Given the description of an element on the screen output the (x, y) to click on. 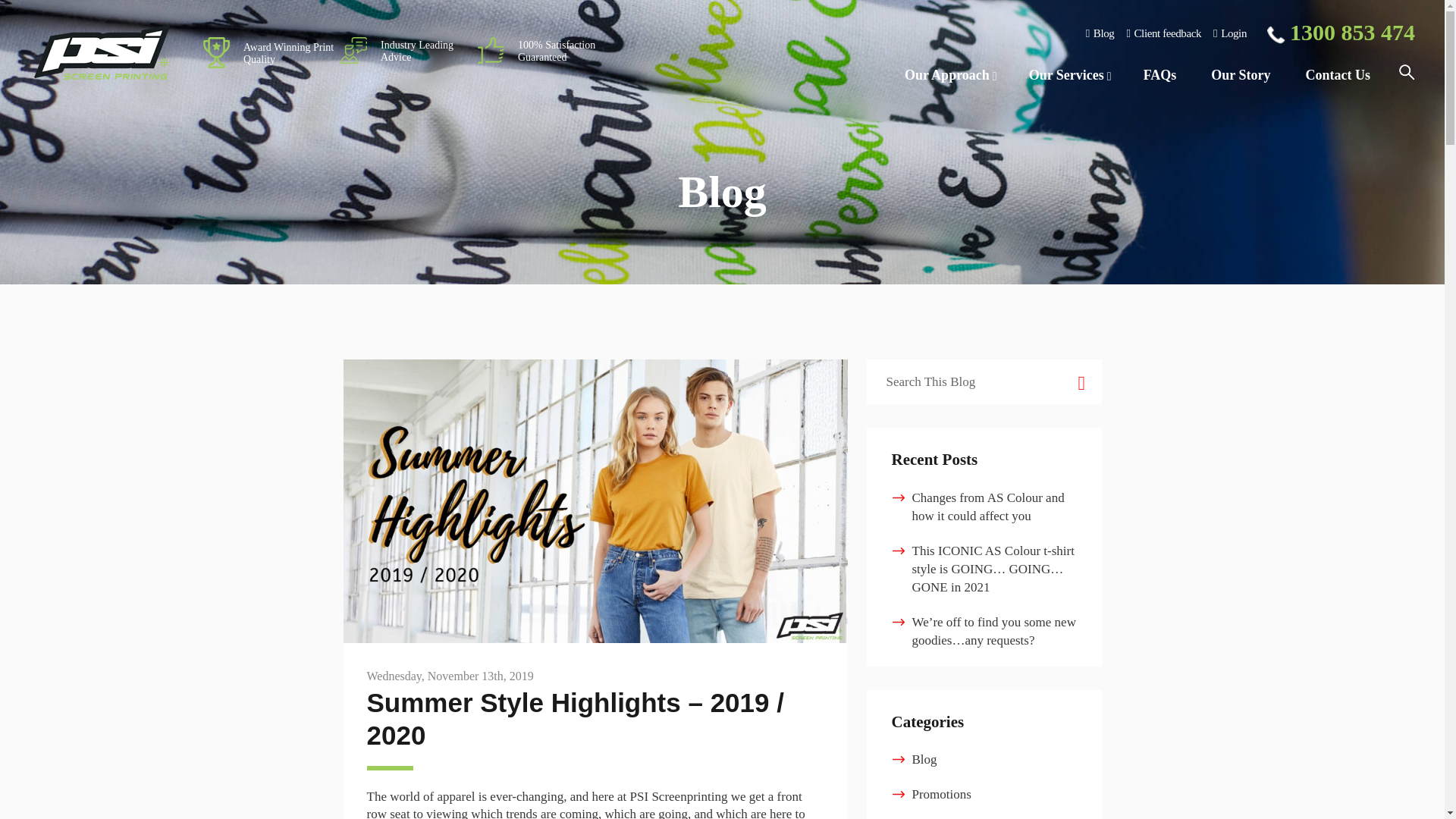
Blog (1100, 33)
Our Story (1240, 75)
Blog (1100, 33)
Client feedback (1163, 33)
Our Services (1068, 75)
Our Services (1068, 75)
Login (1229, 33)
Our Approach (948, 75)
1300 853 474 (1340, 33)
Contact Us (1337, 75)
